Given the description of an element on the screen output the (x, y) to click on. 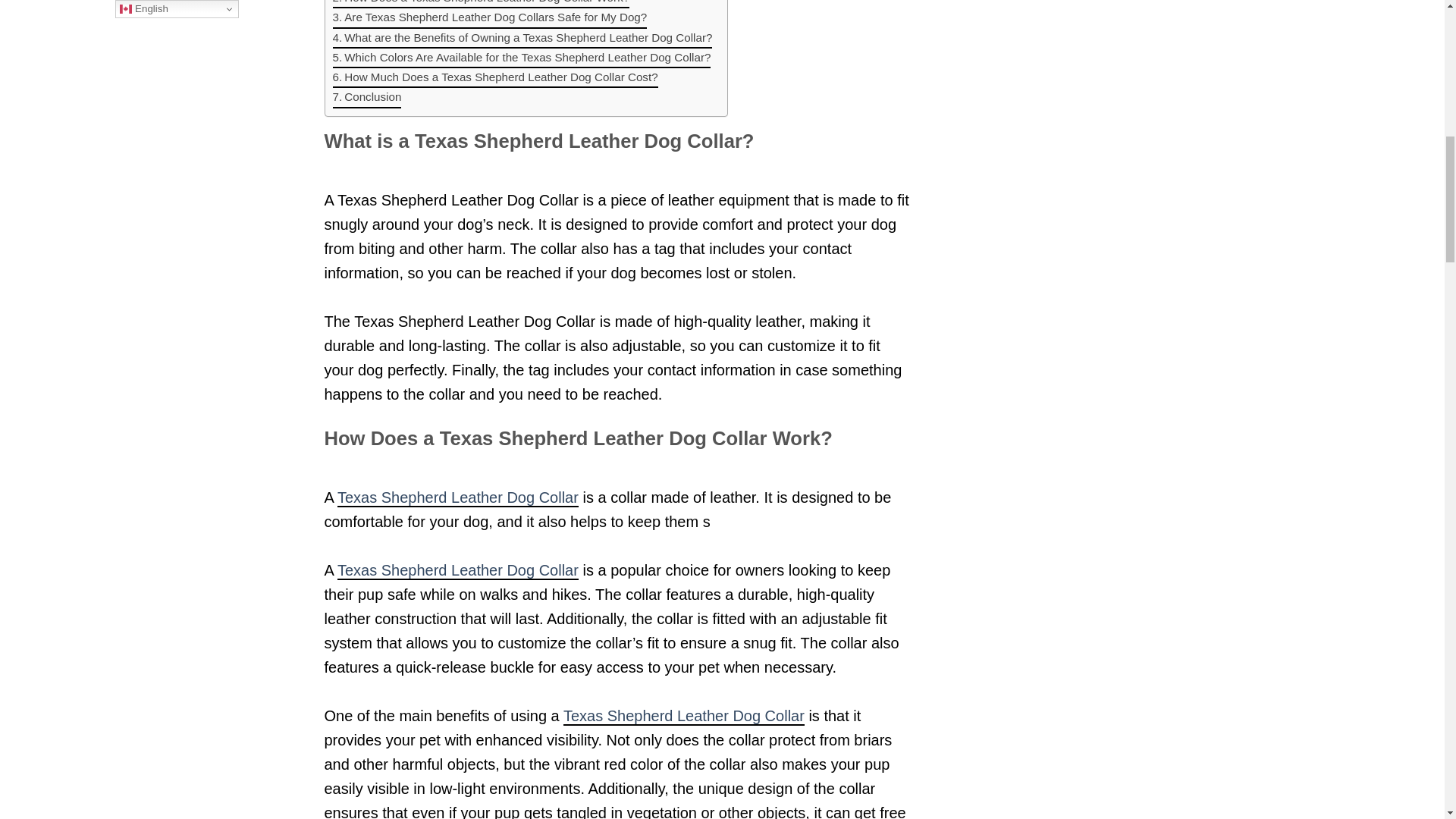
How Does a Texas Shepherd Leather Dog Collar Work? (479, 4)
Are Texas Shepherd Leather Dog Collars Safe for My Dog? (488, 17)
